Given the description of an element on the screen output the (x, y) to click on. 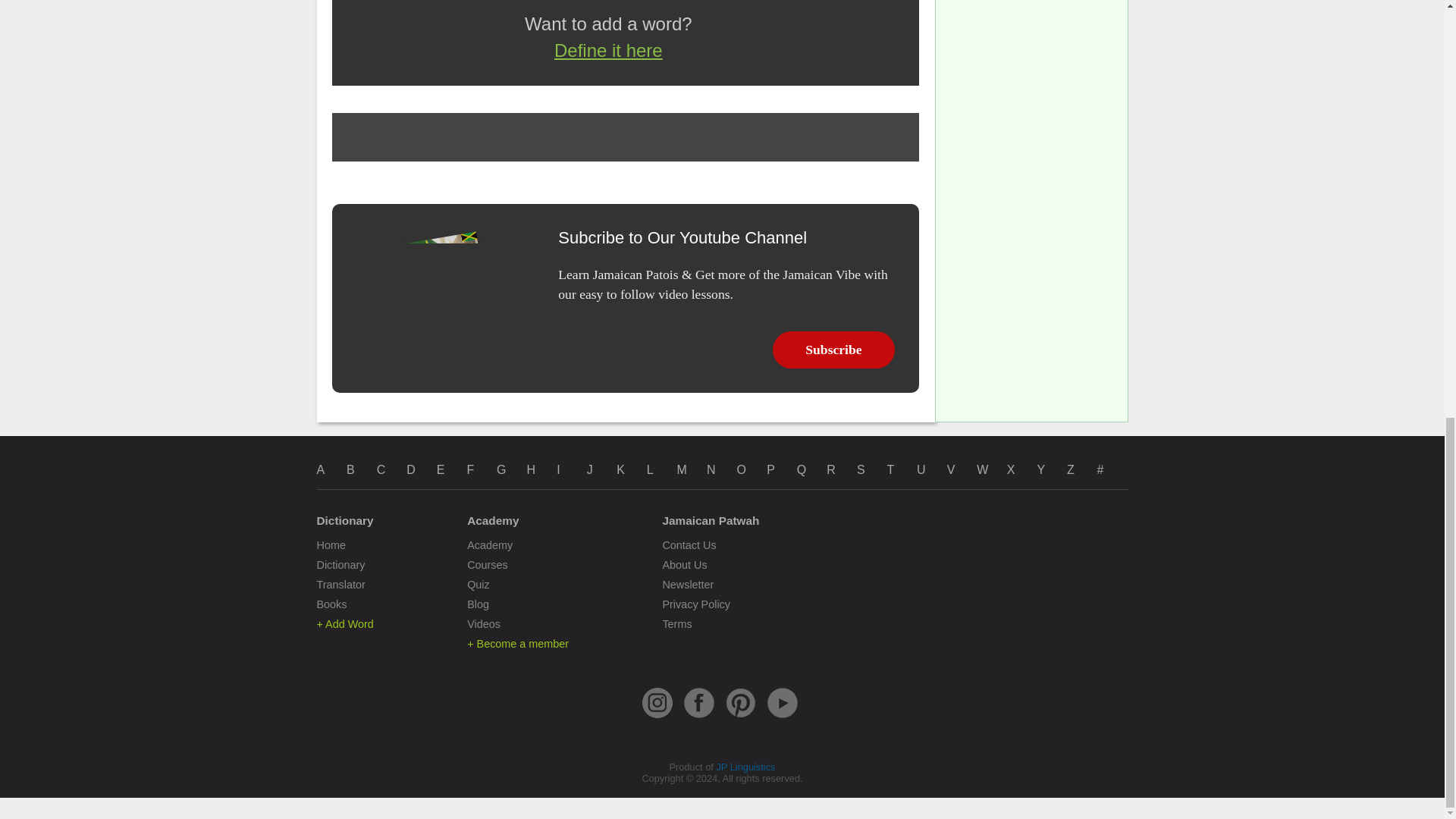
Follow us on Instagram (657, 716)
Follow us on Pinterest (740, 716)
Subscribe (834, 349)
Subcribe on Youtube (782, 716)
Define it here (608, 50)
Find us on Facebook (699, 716)
